Given the description of an element on the screen output the (x, y) to click on. 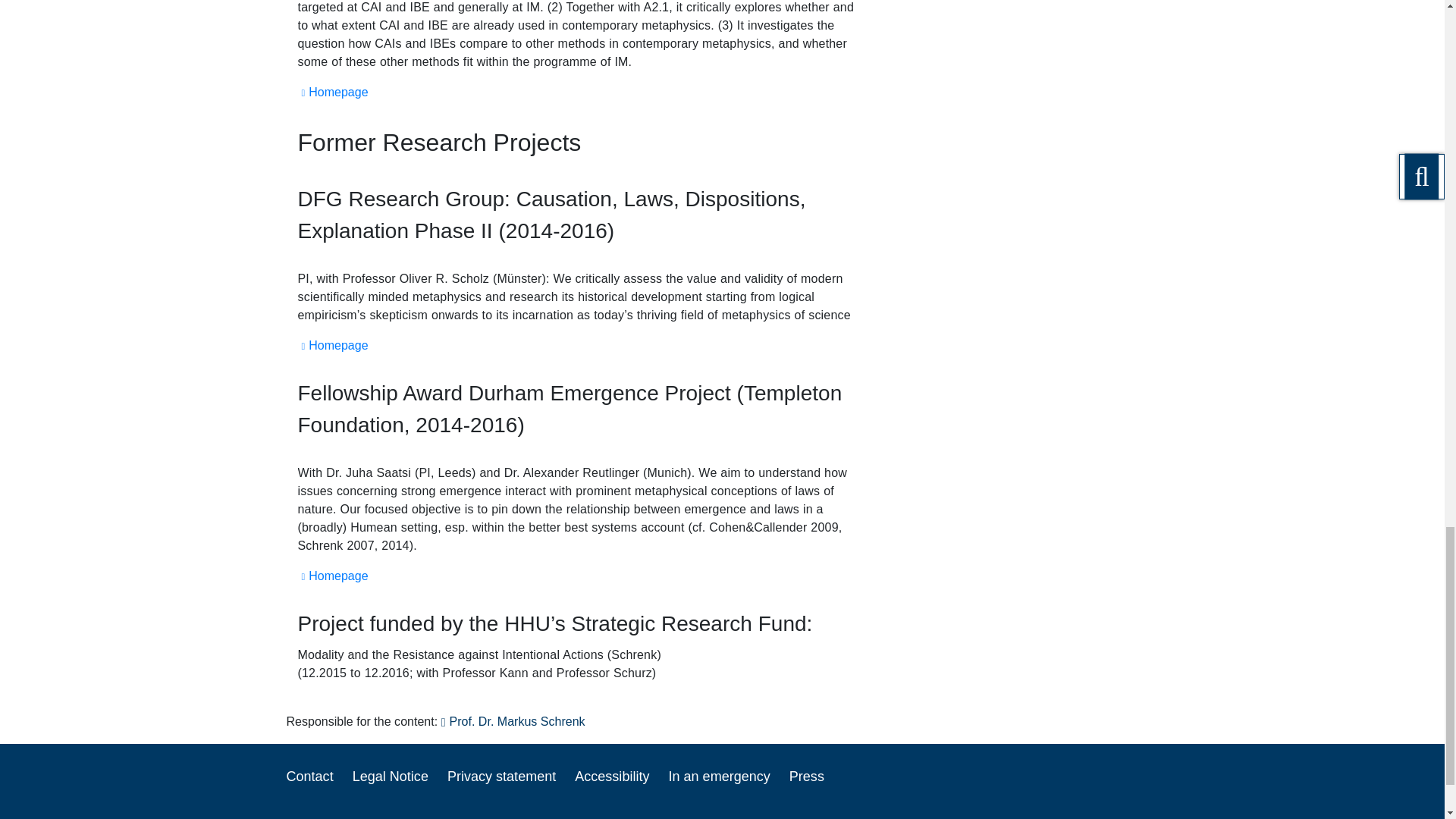
externer Link in neuem Fenster (332, 345)
externer Link in neuem Fenster (332, 575)
externer Link in neuem Fenster (332, 91)
